Given the description of an element on the screen output the (x, y) to click on. 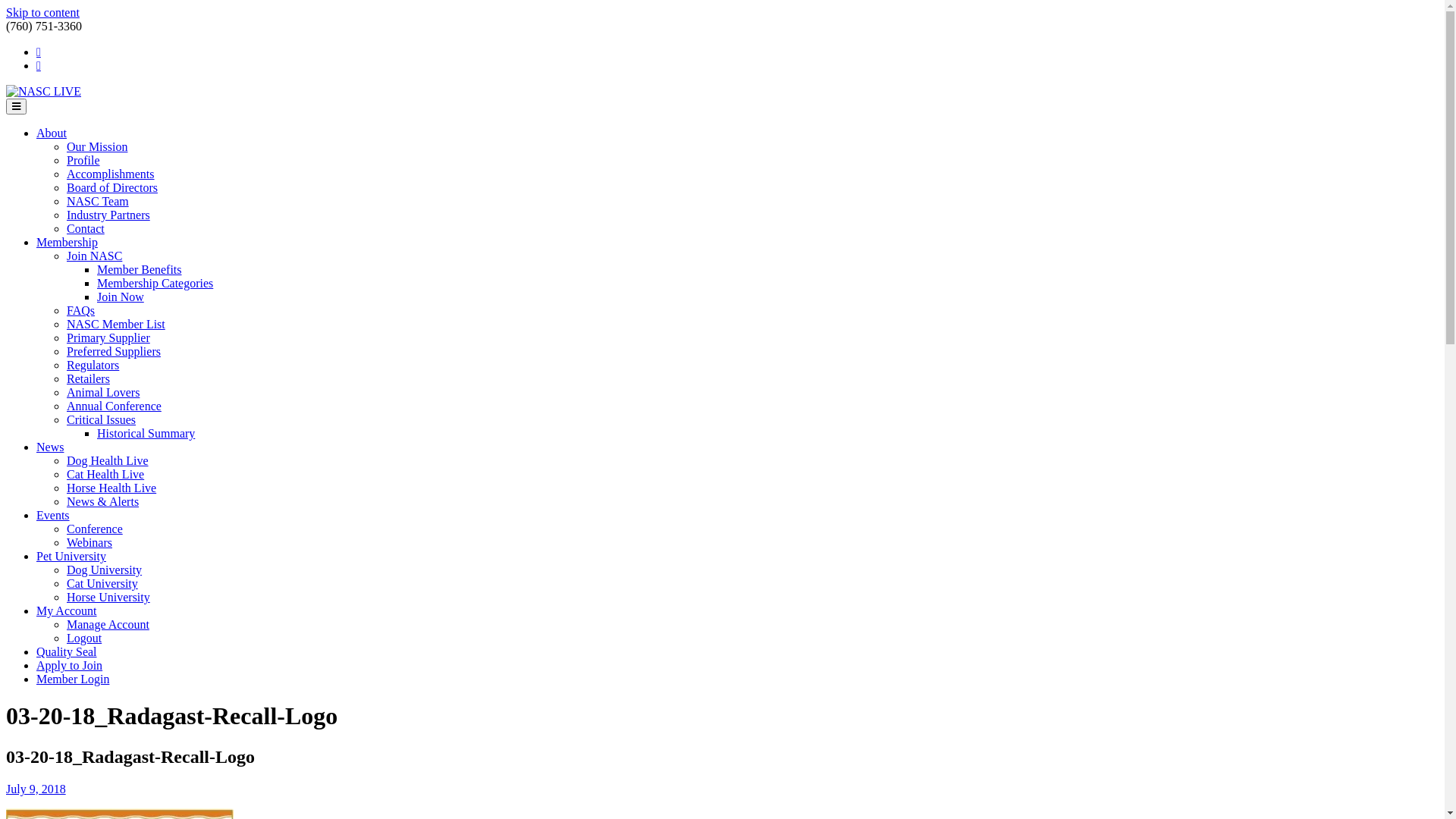
Join NASC Element type: text (94, 255)
Board of Directors Element type: text (111, 187)
Historical Summary Element type: text (145, 432)
Accomplishments Element type: text (110, 173)
Industry Partners Element type: text (108, 214)
Cat University Element type: text (102, 583)
About Element type: text (51, 132)
Animal Lovers Element type: text (102, 391)
Horse University Element type: text (108, 596)
News & Alerts Element type: text (102, 501)
Annual Conference Element type: text (113, 405)
Join Now Element type: text (120, 296)
Retailers Element type: text (87, 378)
Preferred Suppliers Element type: text (113, 351)
Membership Categories Element type: text (155, 282)
Webinars Element type: text (89, 542)
Primary Supplier Element type: text (108, 337)
Skip to content Element type: text (42, 12)
Pet University Element type: text (71, 555)
Member Benefits Element type: text (139, 269)
July 9, 2018 Element type: text (35, 788)
Membership Element type: text (66, 241)
Profile Element type: text (83, 159)
FAQs Element type: text (80, 310)
Manage Account Element type: text (107, 624)
Events Element type: text (52, 514)
Contact Element type: text (85, 228)
Dog Health Live Element type: text (107, 460)
Apply to Join Element type: text (69, 664)
Dog University Element type: text (103, 569)
Logout Element type: text (83, 637)
Horse Health Live Element type: text (111, 487)
NASC Team Element type: text (97, 200)
Cat Health Live Element type: text (105, 473)
Critical Issues Element type: text (100, 419)
News Element type: text (49, 446)
Conference Element type: text (94, 528)
Regulators Element type: text (92, 364)
Our Mission Element type: text (96, 146)
Quality Seal Element type: text (66, 651)
My Account Element type: text (66, 610)
NASC Member List Element type: text (115, 323)
Member Login Element type: text (72, 678)
